Given the description of an element on the screen output the (x, y) to click on. 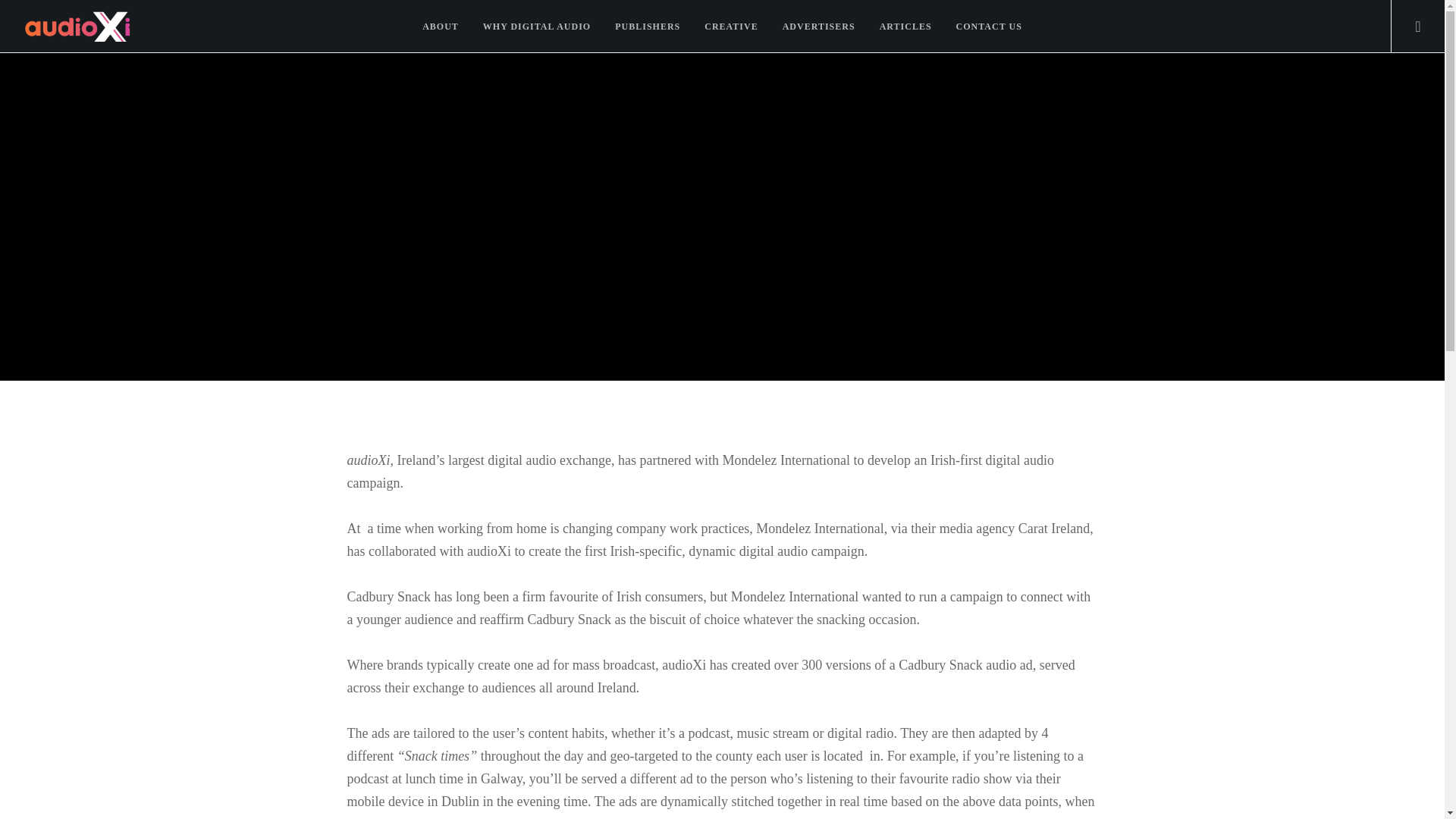
CREATIVE (731, 26)
PUBLISHERS (647, 26)
CONTACT US (988, 26)
WHY DIGITAL AUDIO (536, 26)
ADVERTISERS (818, 26)
ARTICLES (905, 26)
ABOUT (440, 26)
